Given the description of an element on the screen output the (x, y) to click on. 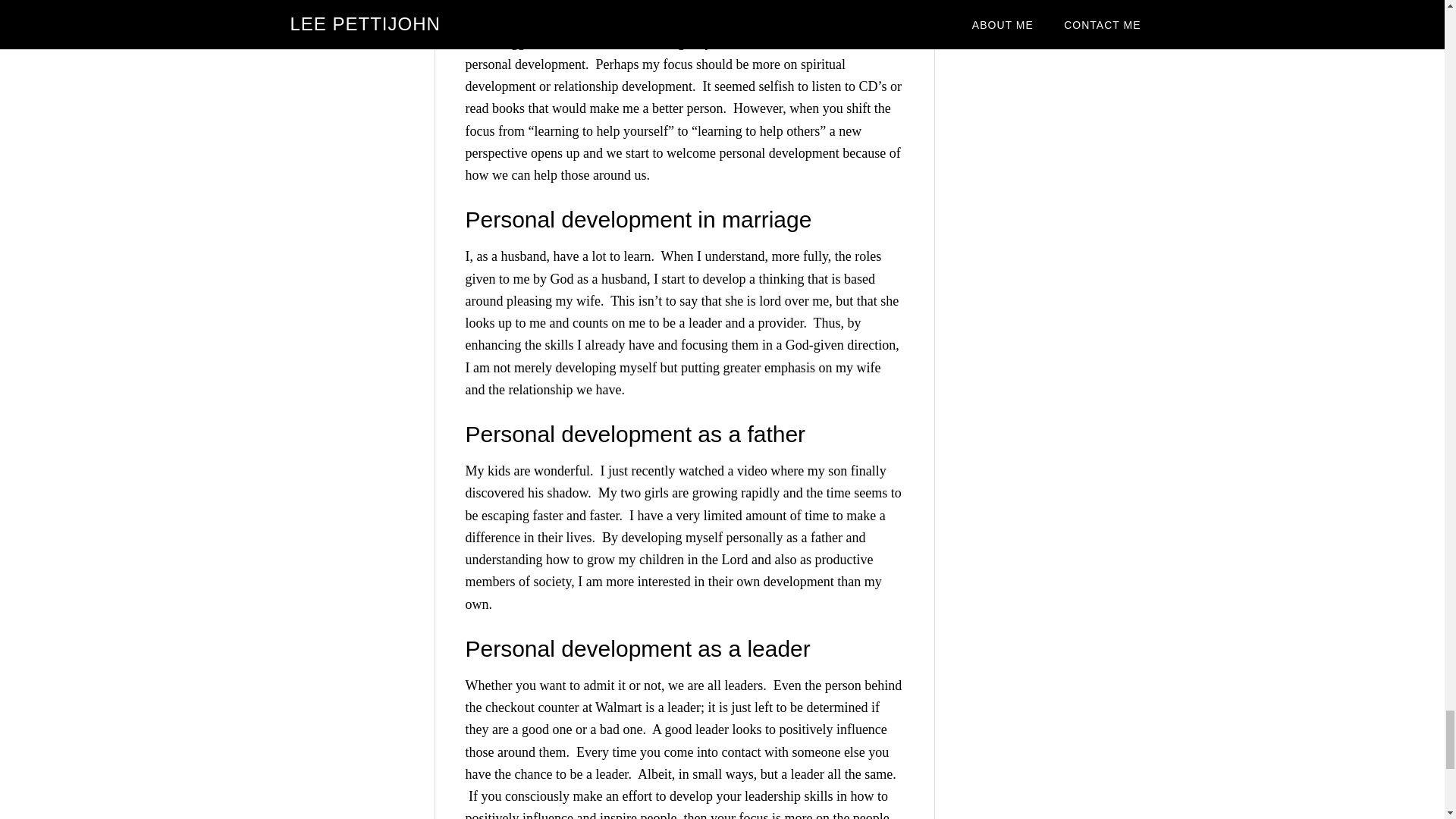
Lee Pettijohn (581, 4)
4 Comments (665, 4)
